Given the description of an element on the screen output the (x, y) to click on. 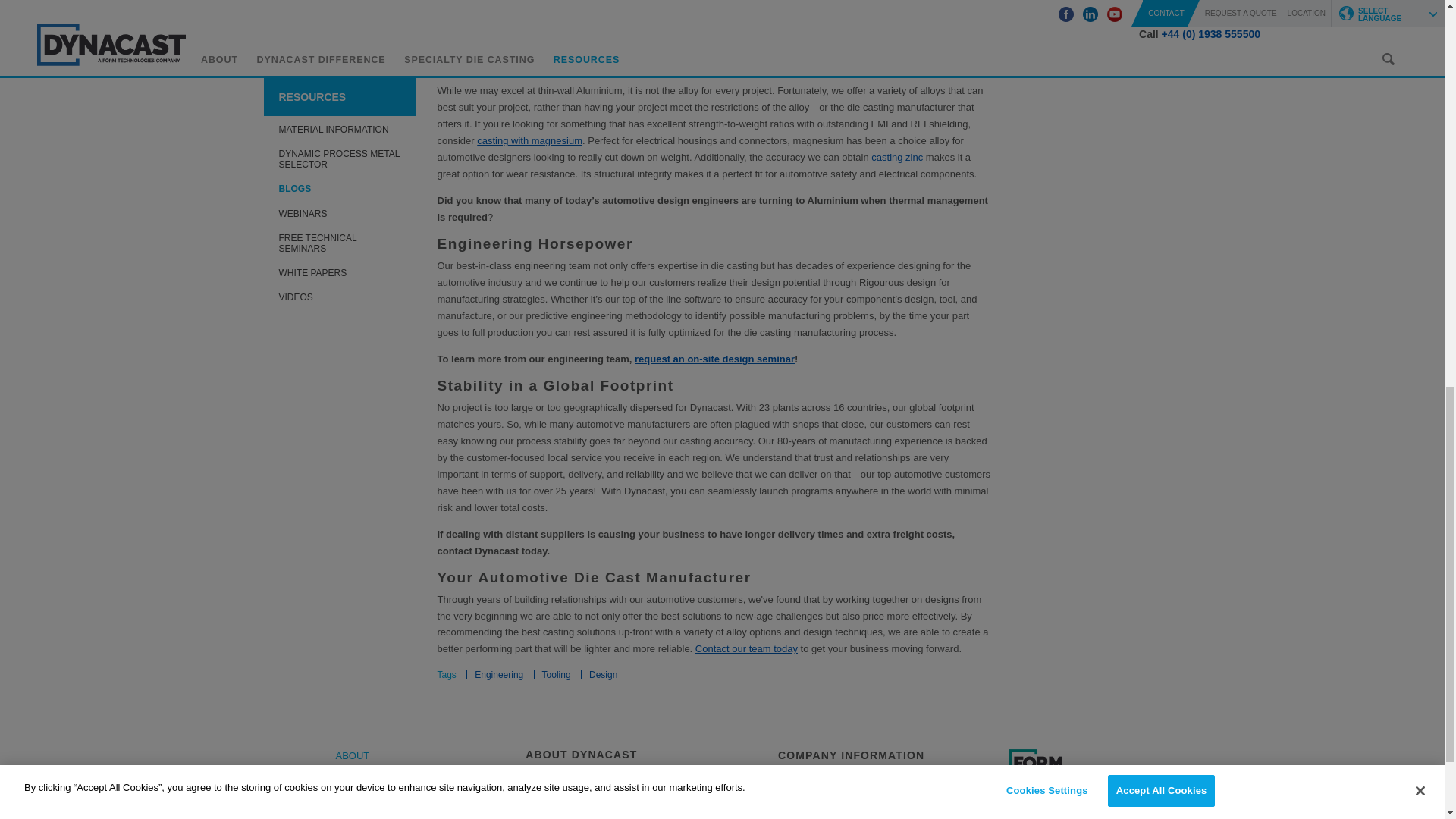
Signicast (1056, 815)
Form Technologies (1056, 774)
